Given the description of an element on the screen output the (x, y) to click on. 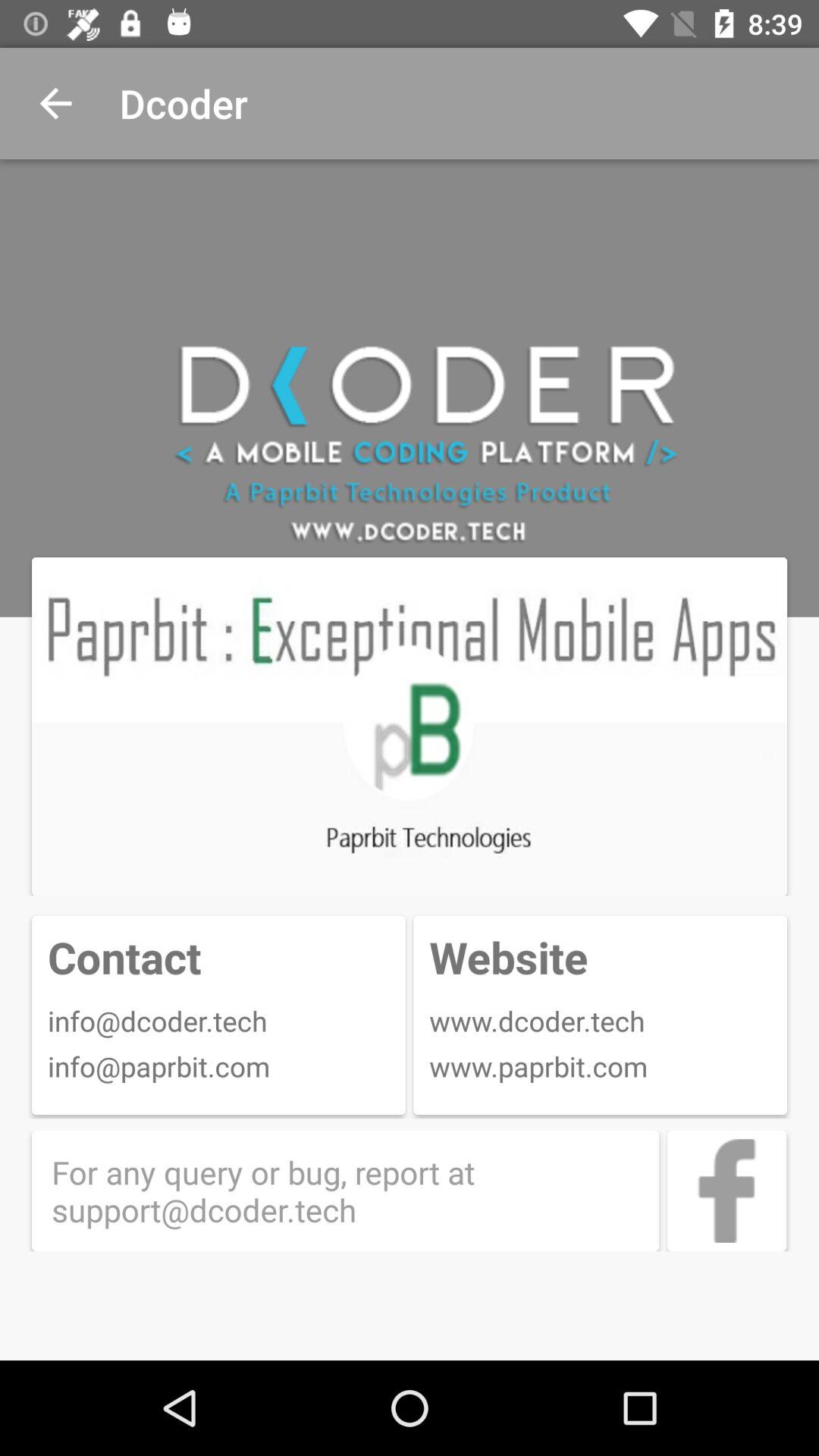
facebook link (726, 1190)
